Given the description of an element on the screen output the (x, y) to click on. 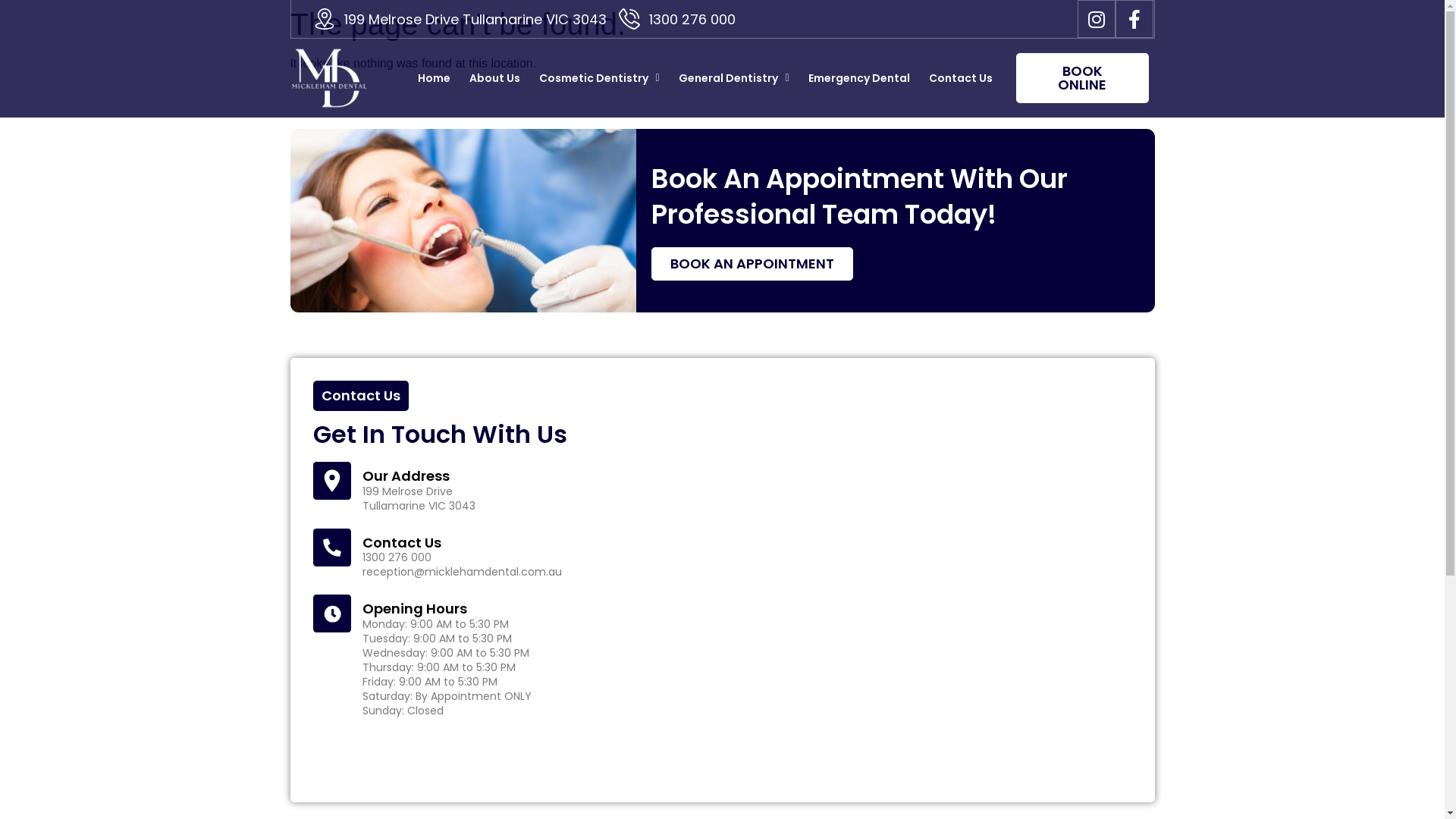
BOOK ONLINE Element type: text (1082, 78)
Home Element type: text (433, 77)
Cosmetic Dentistry Element type: text (599, 77)
General Dentistry Element type: text (733, 77)
BOOK AN APPOINTMENT Element type: text (751, 263)
199 Melrose Drive Element type: hover (937, 579)
Contact Us Element type: text (960, 77)
Emergency Dental Element type: text (859, 77)
About Us Element type: text (494, 77)
